Given the description of an element on the screen output the (x, y) to click on. 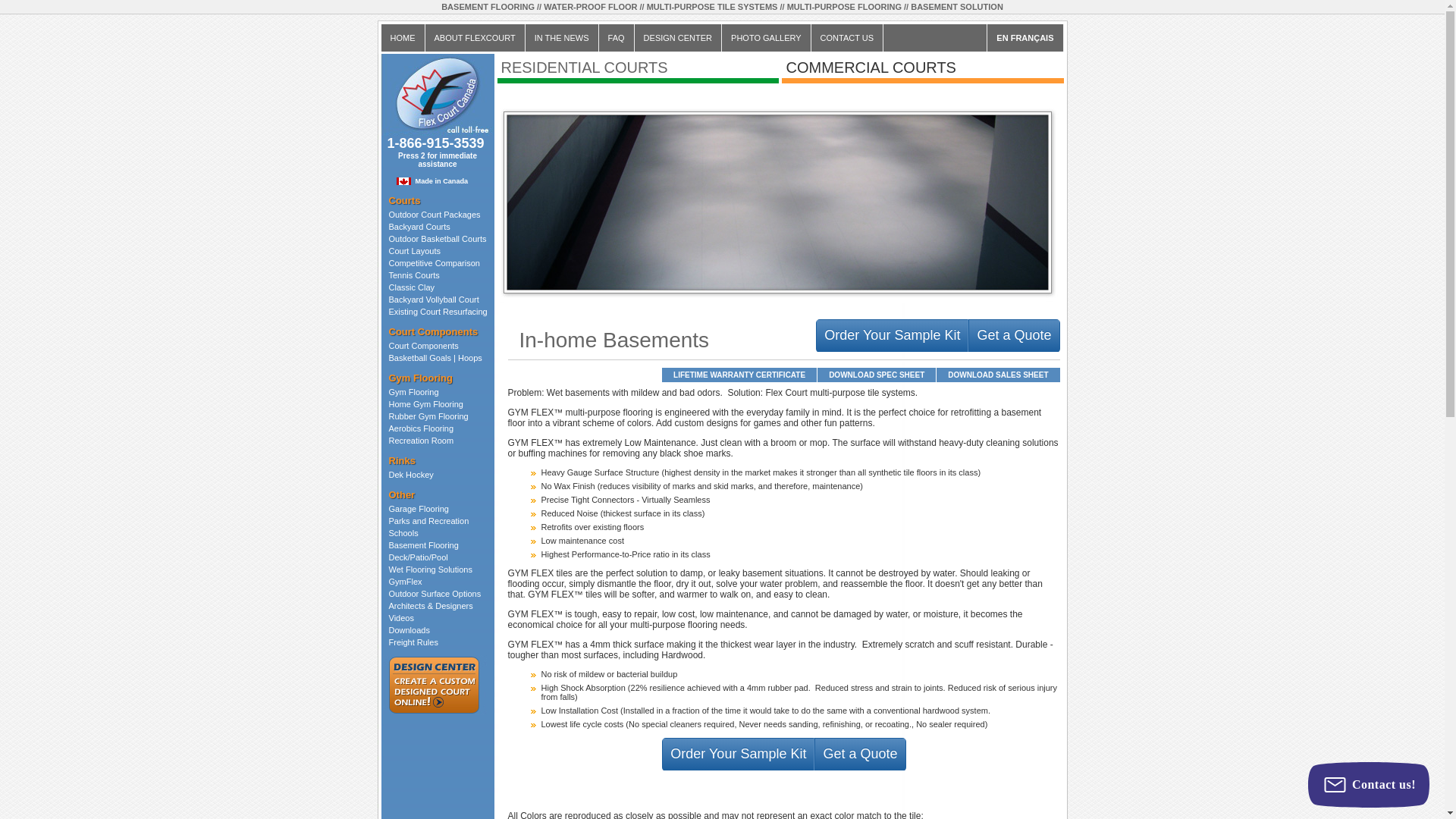
HOME (402, 37)
Tennis Courts (413, 275)
IN THE NEWS (561, 37)
Backyard Vollyball Court (433, 298)
Garage Flooring (418, 508)
Outdoor Surface Options (434, 593)
Classic Clay (410, 286)
DESIGN CENTER (678, 37)
Aerobics Flooring (420, 428)
FAQ (616, 37)
PHOTO GALLERY (766, 37)
Gym Flooring (413, 391)
Outdoor Basketball Courts (437, 238)
Basement Flooring (423, 544)
1-866-915-3539 (436, 135)
